Given the description of an element on the screen output the (x, y) to click on. 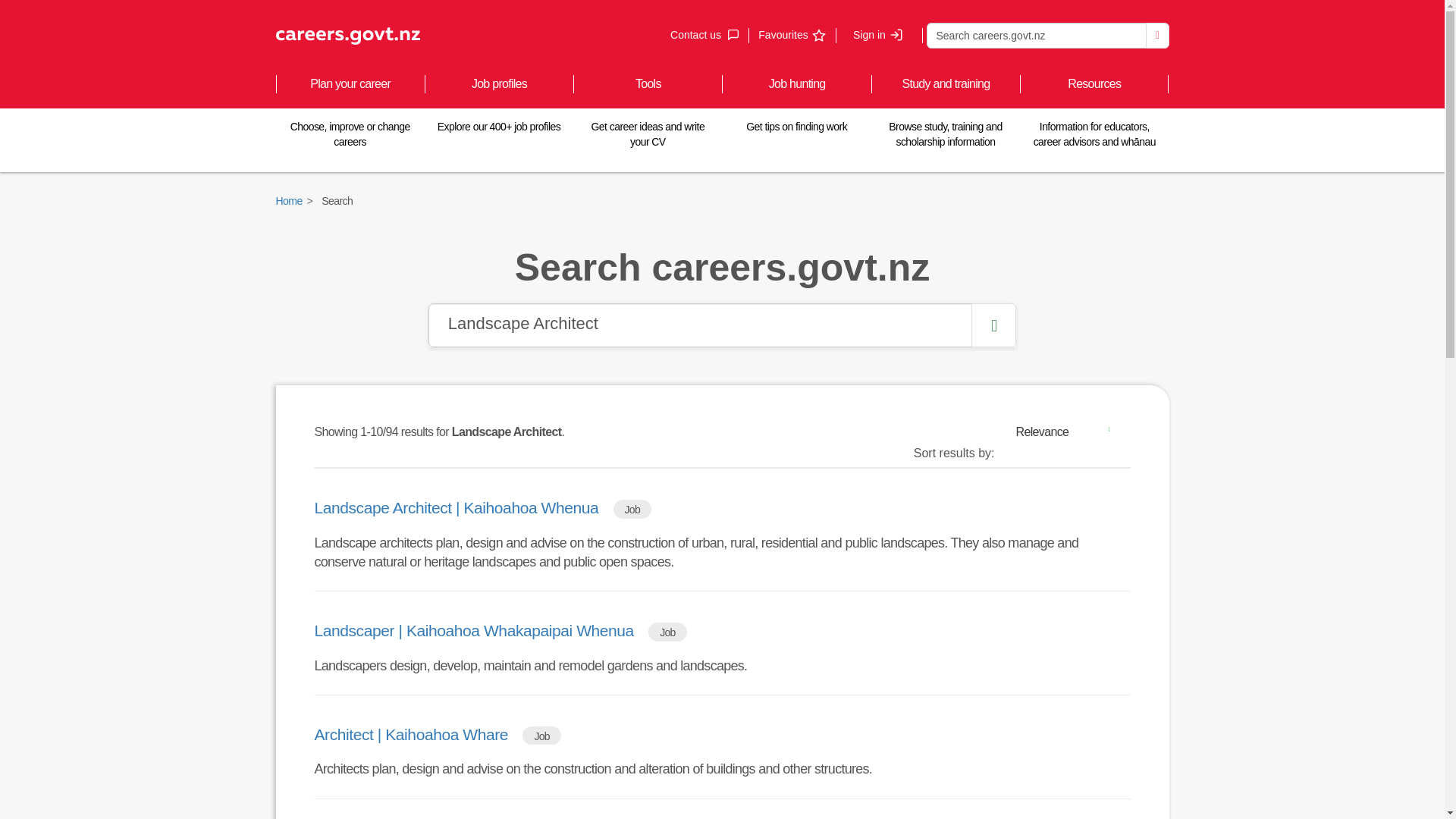
Search (1036, 35)
Relevance (704, 35)
Landscape Architect (1067, 431)
Favourites (700, 325)
Search (791, 35)
Sign in (1157, 35)
